Given the description of an element on the screen output the (x, y) to click on. 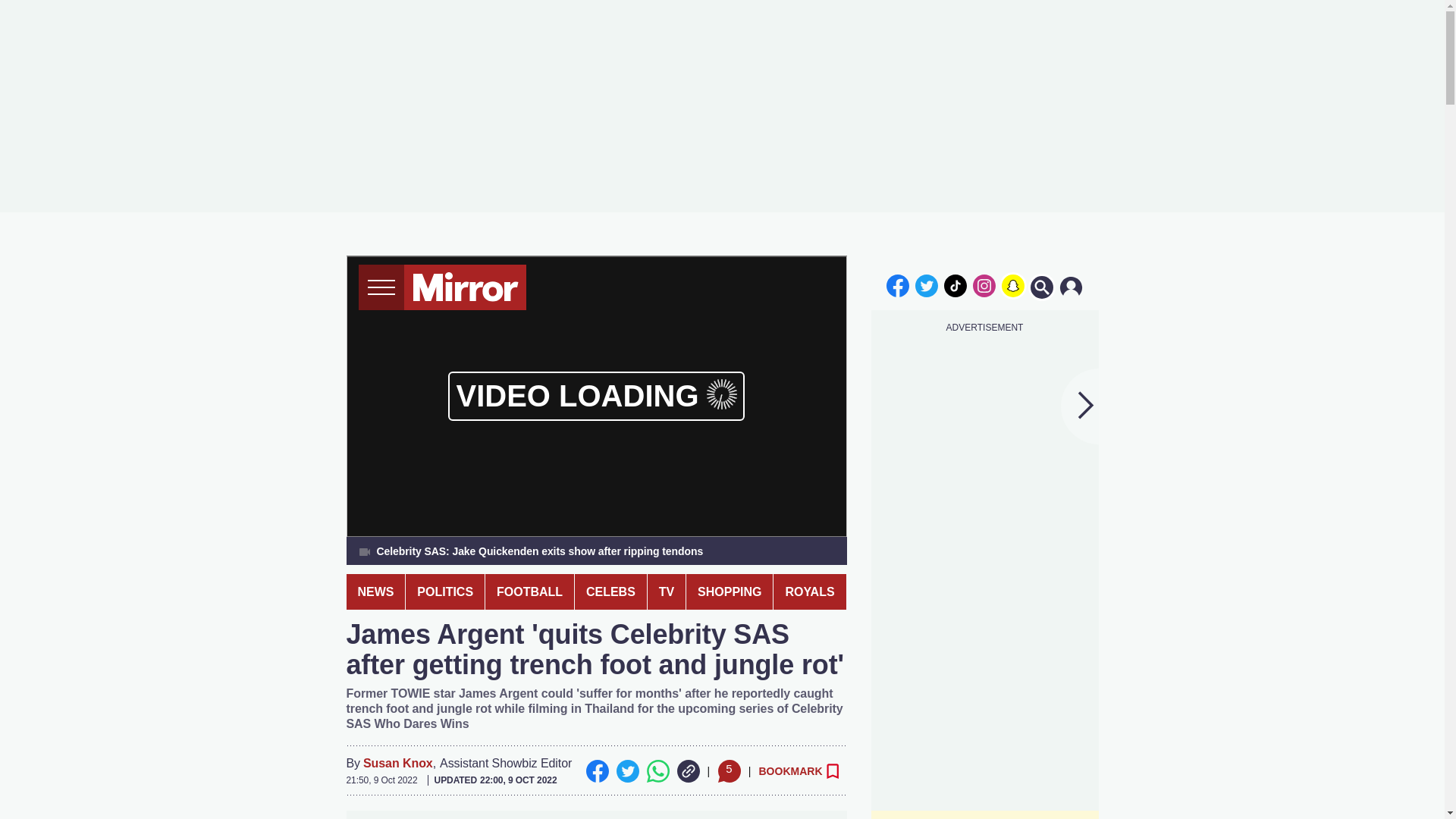
tiktok (955, 285)
Twitter (627, 771)
Facebook (596, 771)
instagram (984, 285)
twitter (926, 285)
snapchat (1012, 285)
facebook (897, 285)
